Given the description of an element on the screen output the (x, y) to click on. 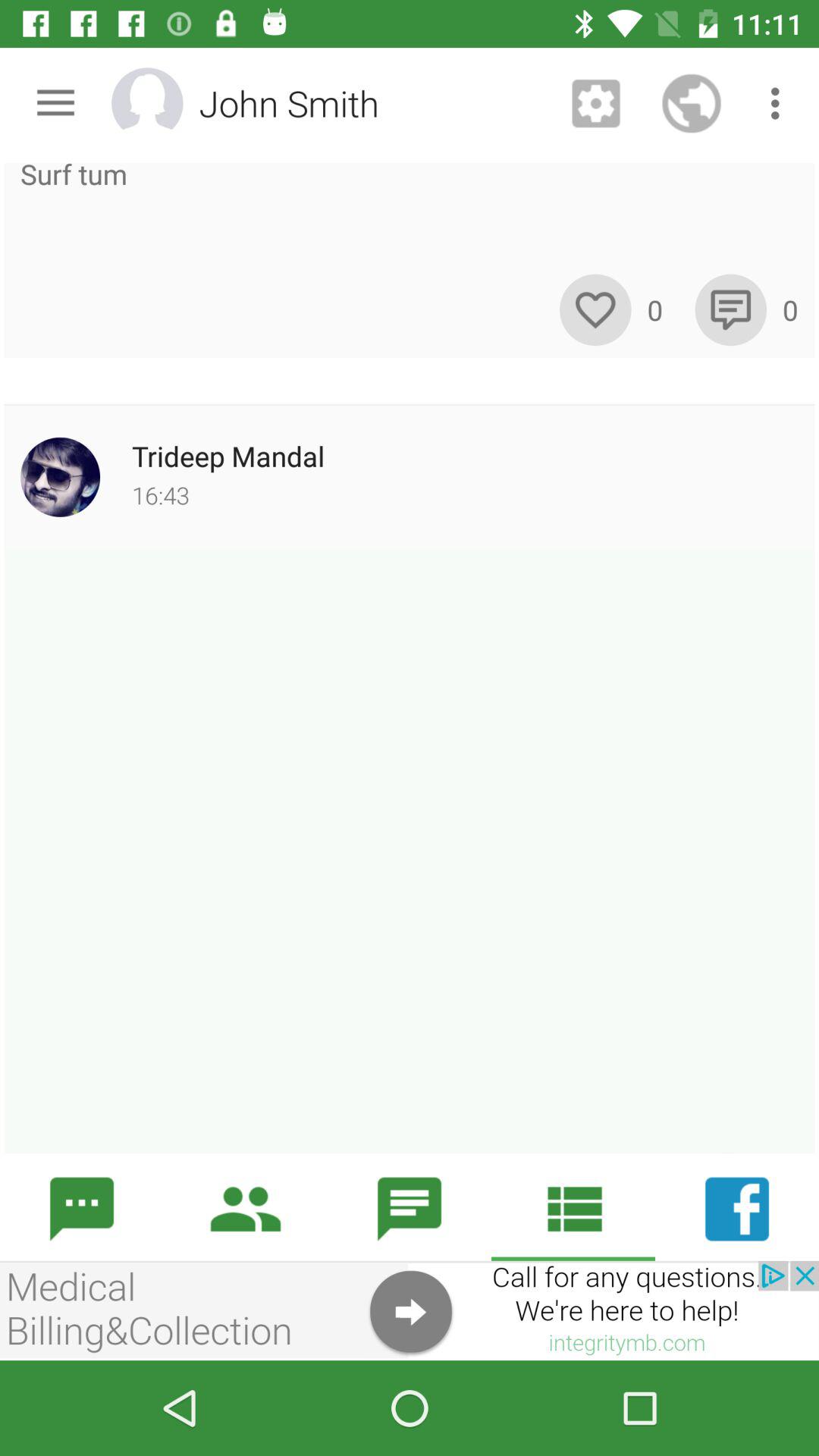
typing page (409, 850)
